Given the description of an element on the screen output the (x, y) to click on. 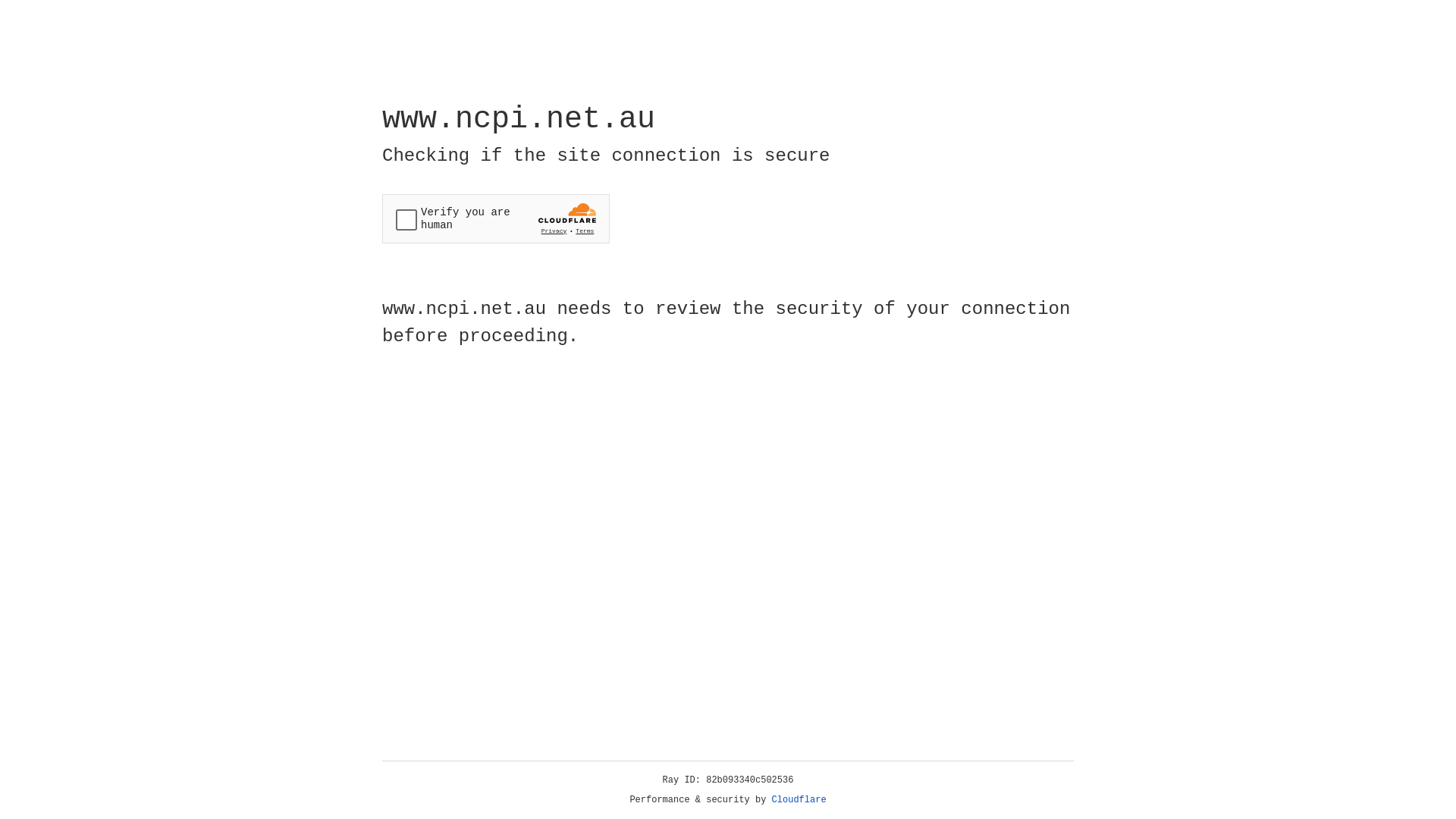
Cloudflare Element type: text (798, 799)
Widget containing a Cloudflare security challenge Element type: hover (495, 218)
